Given the description of an element on the screen output the (x, y) to click on. 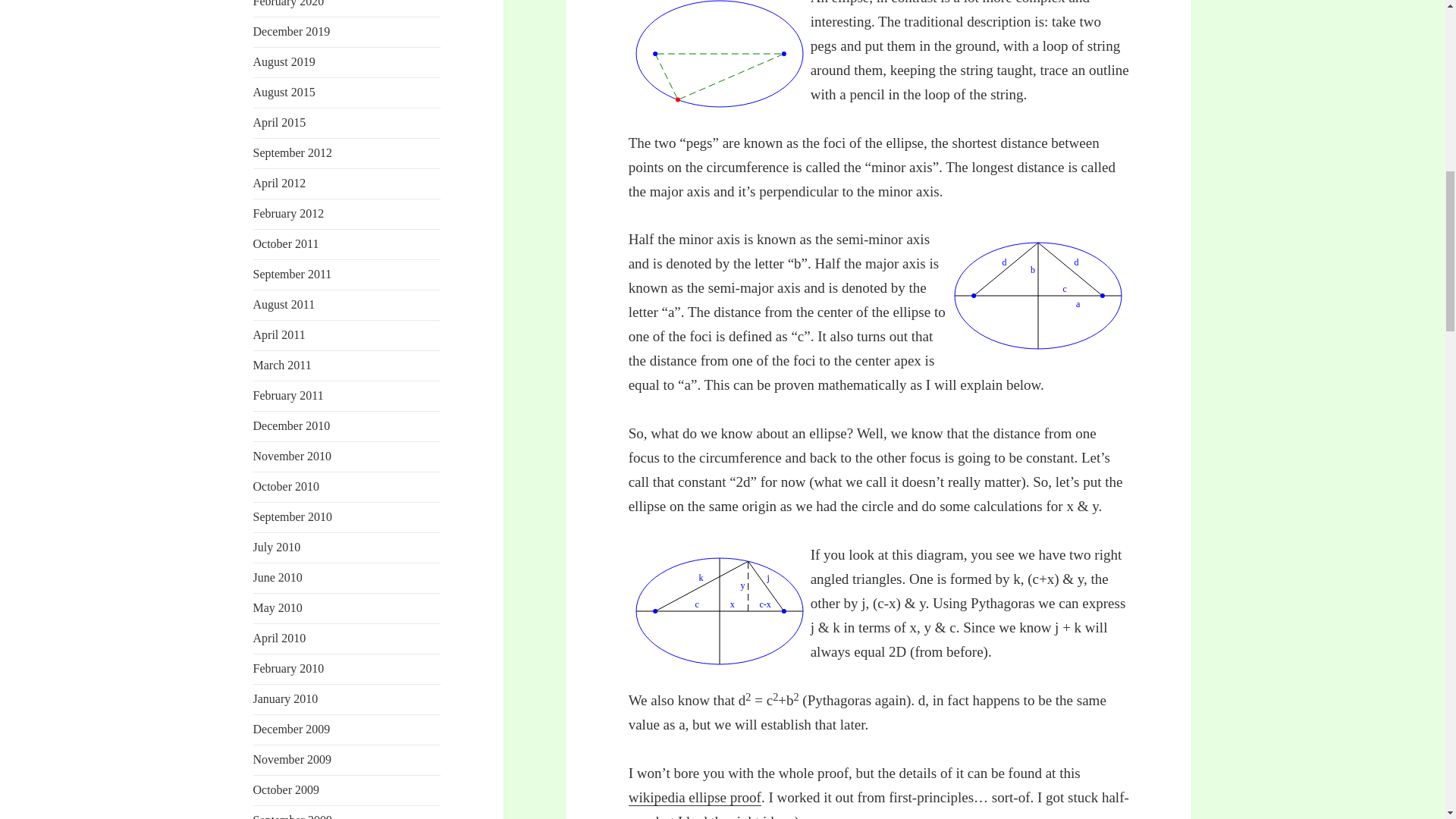
September 2010 (292, 516)
June 2010 (277, 576)
April 2015 (279, 122)
September 2011 (292, 273)
February 2020 (288, 3)
August 2015 (284, 91)
July 2010 (277, 546)
August 2011 (284, 304)
December 2010 (291, 425)
February 2011 (288, 395)
April 2011 (279, 334)
September 2012 (292, 152)
February 2012 (288, 213)
October 2010 (286, 486)
May 2010 (277, 607)
